Given the description of an element on the screen output the (x, y) to click on. 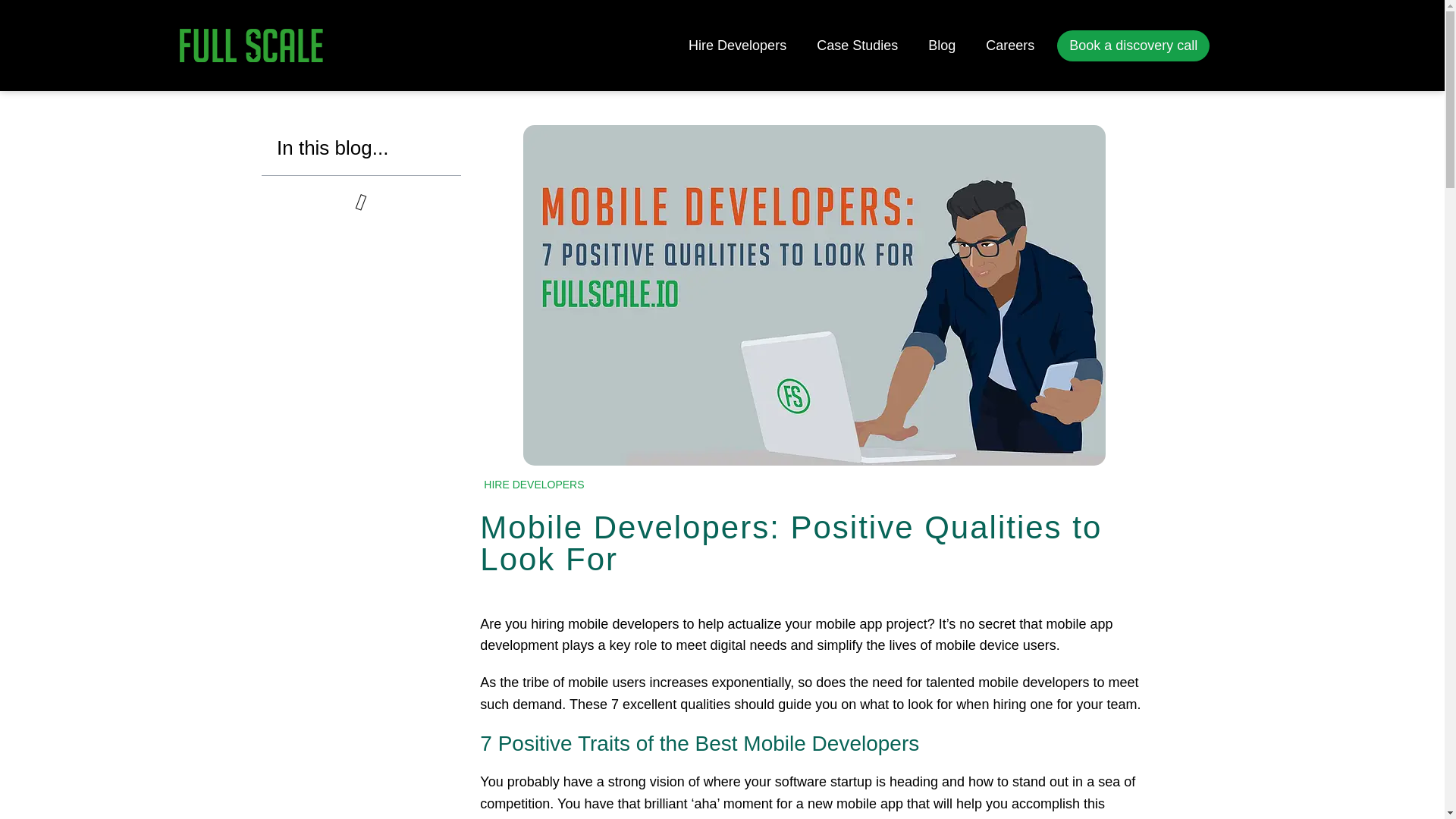
Careers (1010, 45)
Book a discovery call (1133, 45)
HIRE DEVELOPERS (533, 484)
Hire Developers (737, 45)
Case Studies (857, 45)
Blog (941, 45)
